Given the description of an element on the screen output the (x, y) to click on. 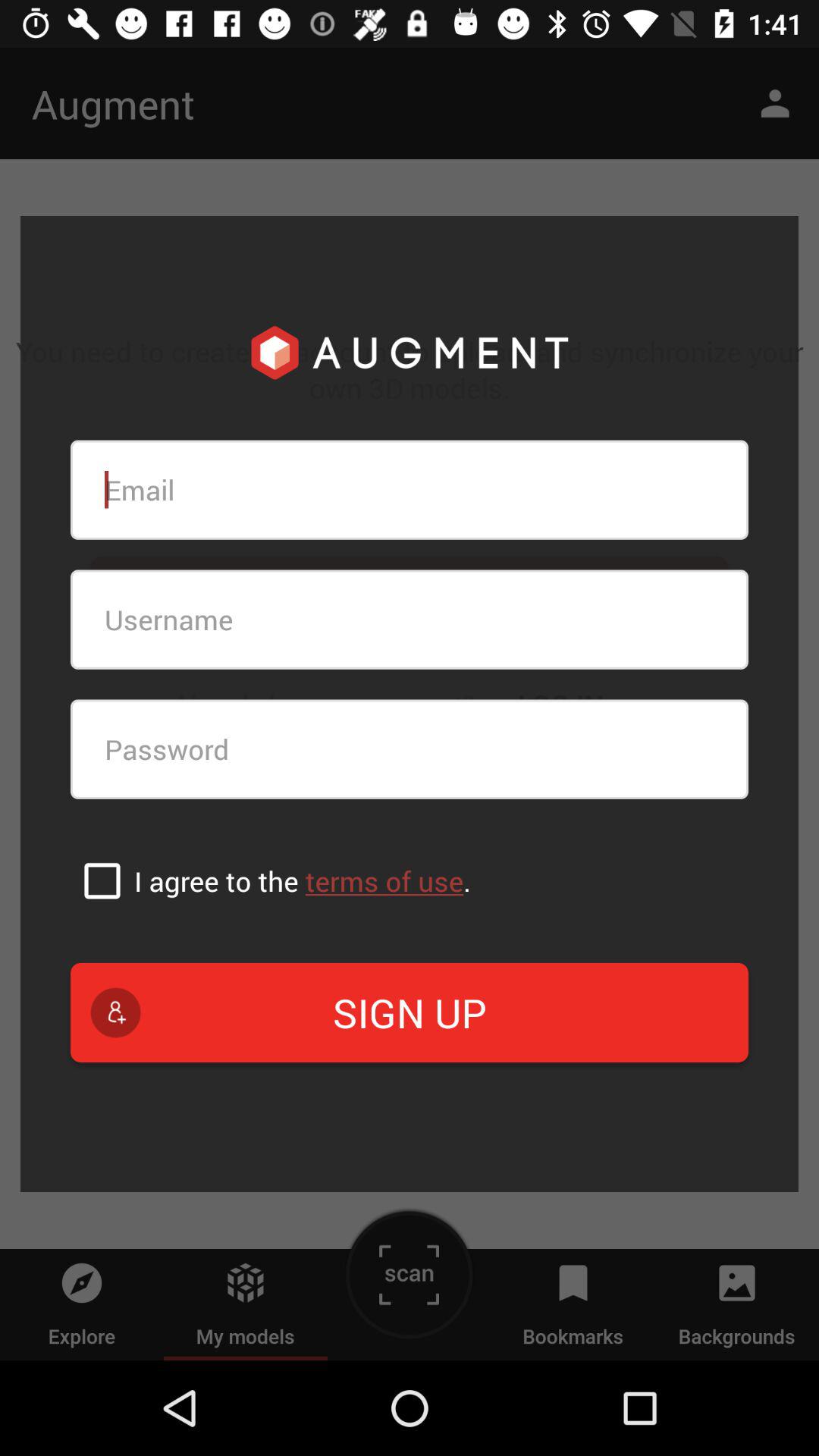
launch icon at the bottom (409, 1012)
